Given the description of an element on the screen output the (x, y) to click on. 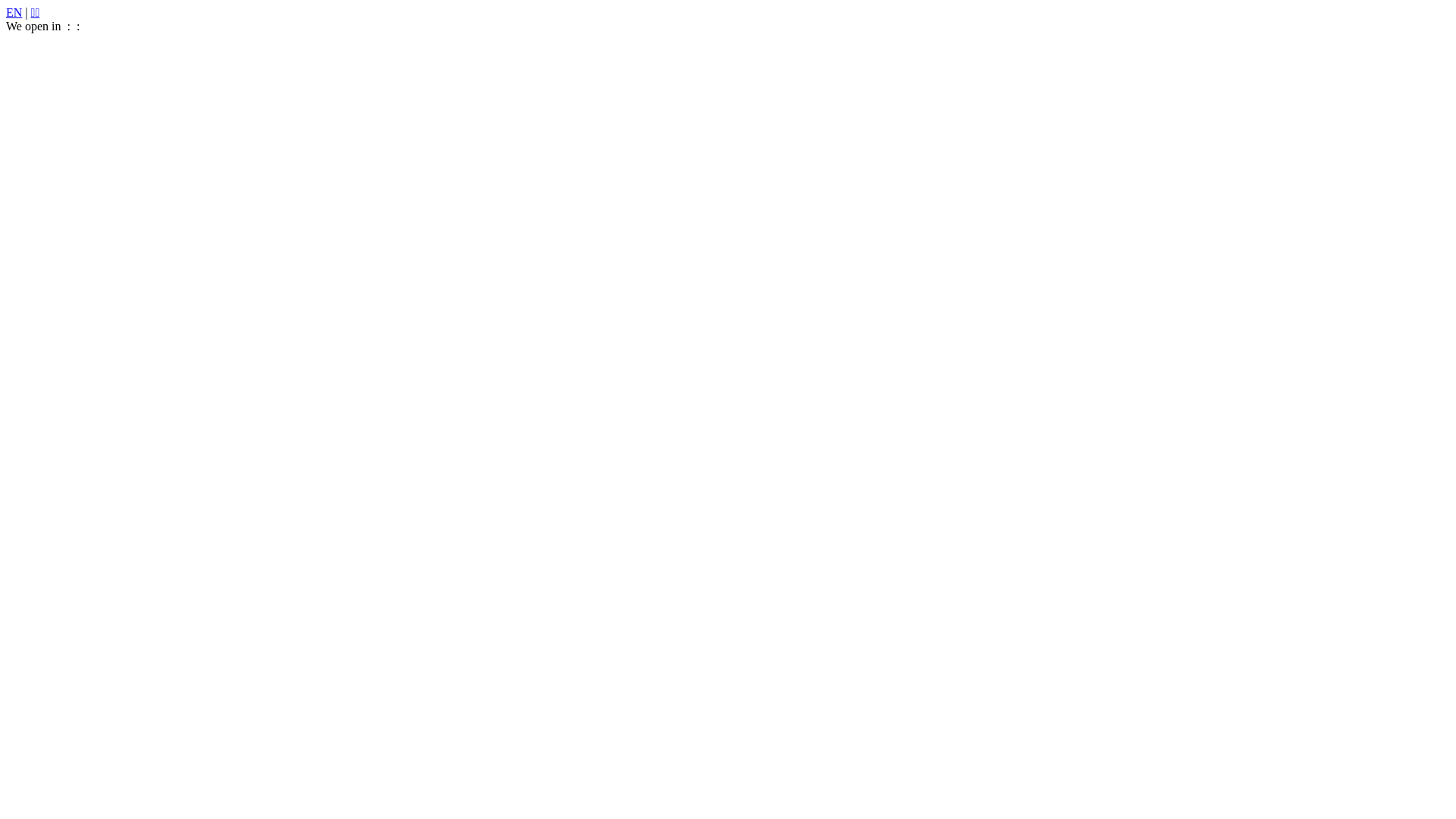
EN Element type: text (13, 12)
